Given the description of an element on the screen output the (x, y) to click on. 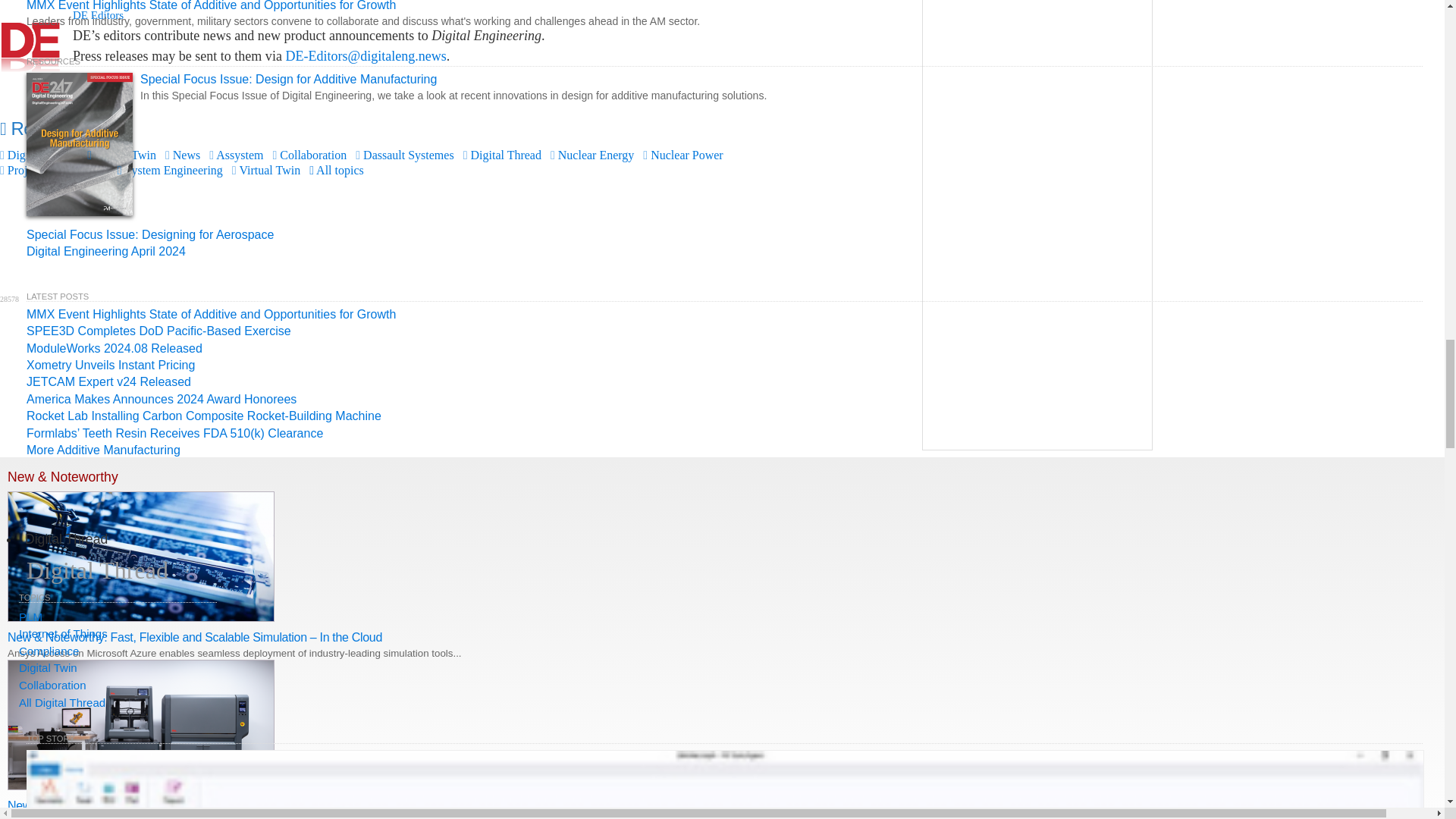
Project Management (53, 169)
Nuclear Power (682, 154)
System Engineering (169, 169)
Collaboration (309, 154)
Digital Thread (502, 154)
Dassault Systemes (403, 154)
Assystem (236, 154)
Virtual Twin (265, 169)
Nuclear Energy (591, 154)
